Given the description of an element on the screen output the (x, y) to click on. 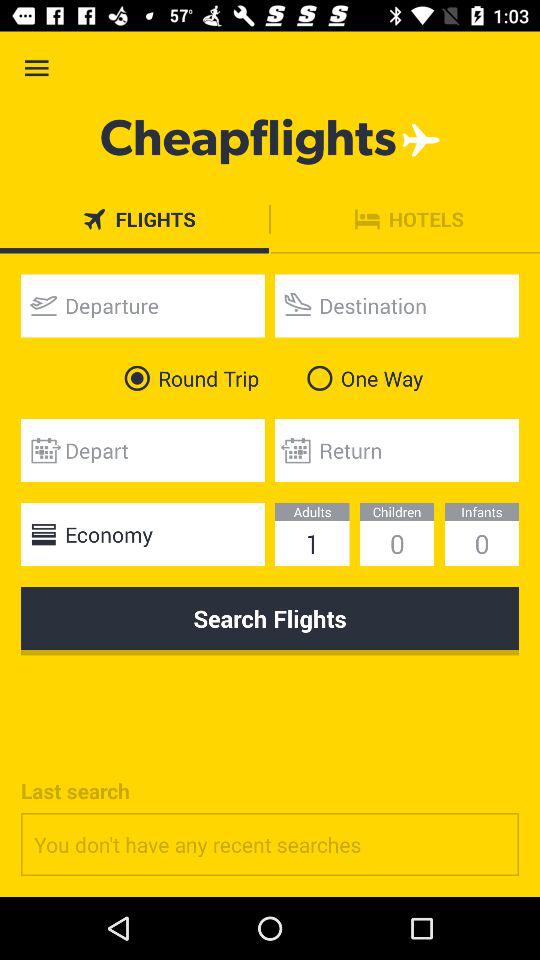
jump to the round trip icon (187, 378)
